Given the description of an element on the screen output the (x, y) to click on. 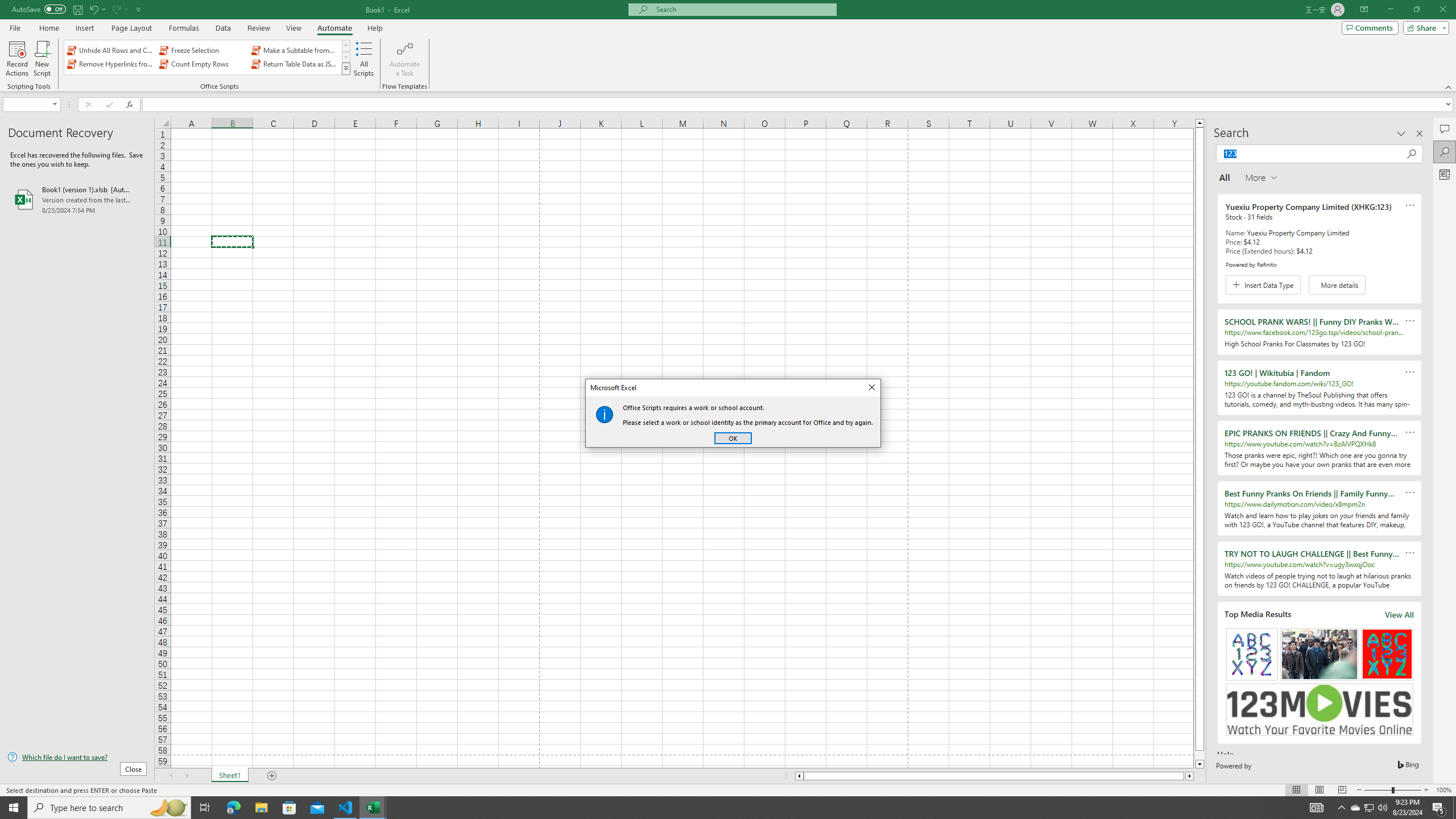
AutomationID: OfficeScriptsGallery (207, 57)
Which file do I want to save? (77, 757)
Count Empty Rows (202, 64)
Zoom Out (1377, 790)
Unhide All Rows and Columns (111, 50)
Page down (1199, 755)
Class: MsoCommandBar (728, 45)
Page Break Preview (1342, 790)
Formula Bar (799, 104)
AutoSave (38, 9)
Data (223, 28)
Review (258, 28)
